Given the description of an element on the screen output the (x, y) to click on. 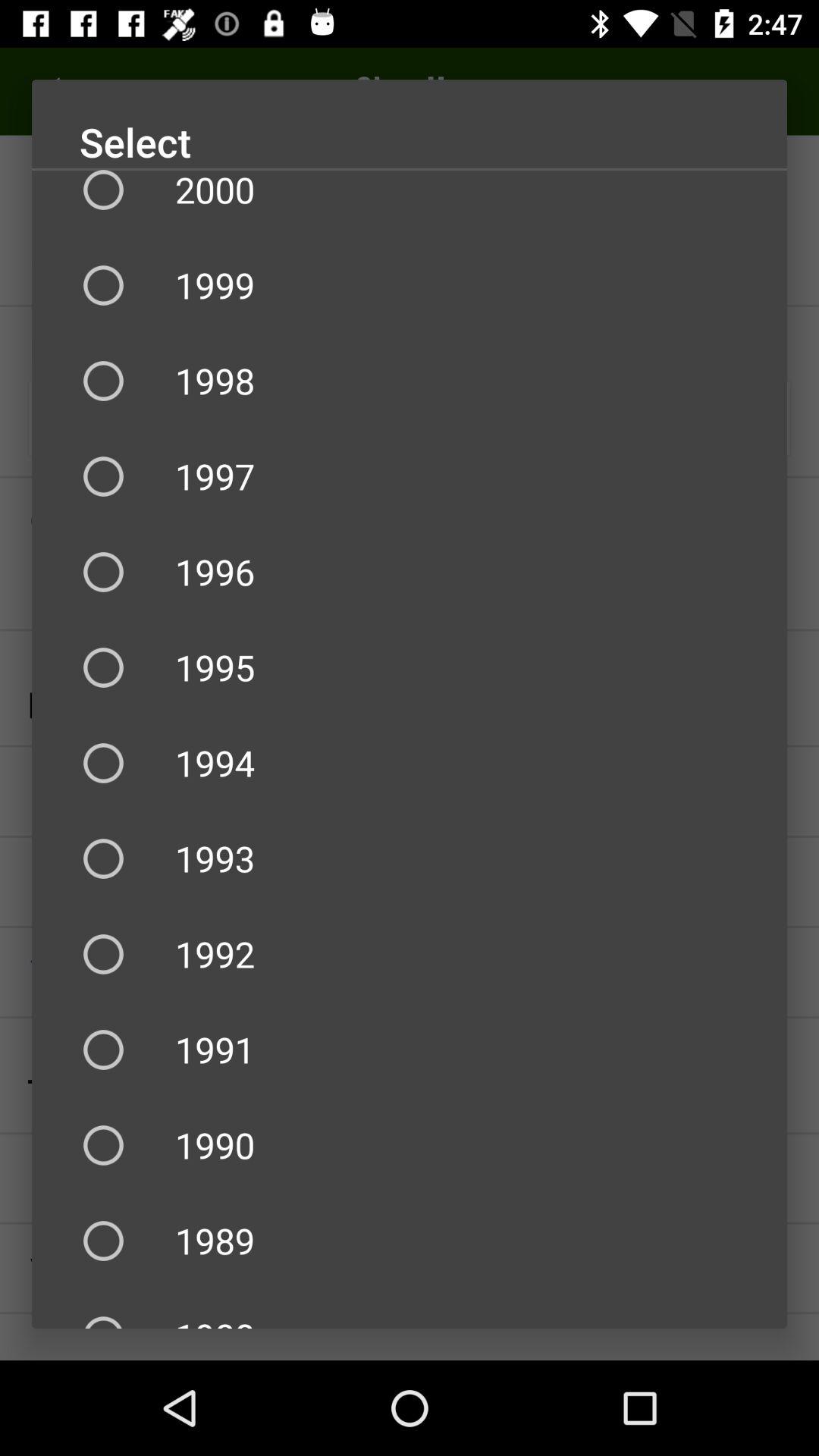
choose the item above the 1995 item (409, 571)
